Given the description of an element on the screen output the (x, y) to click on. 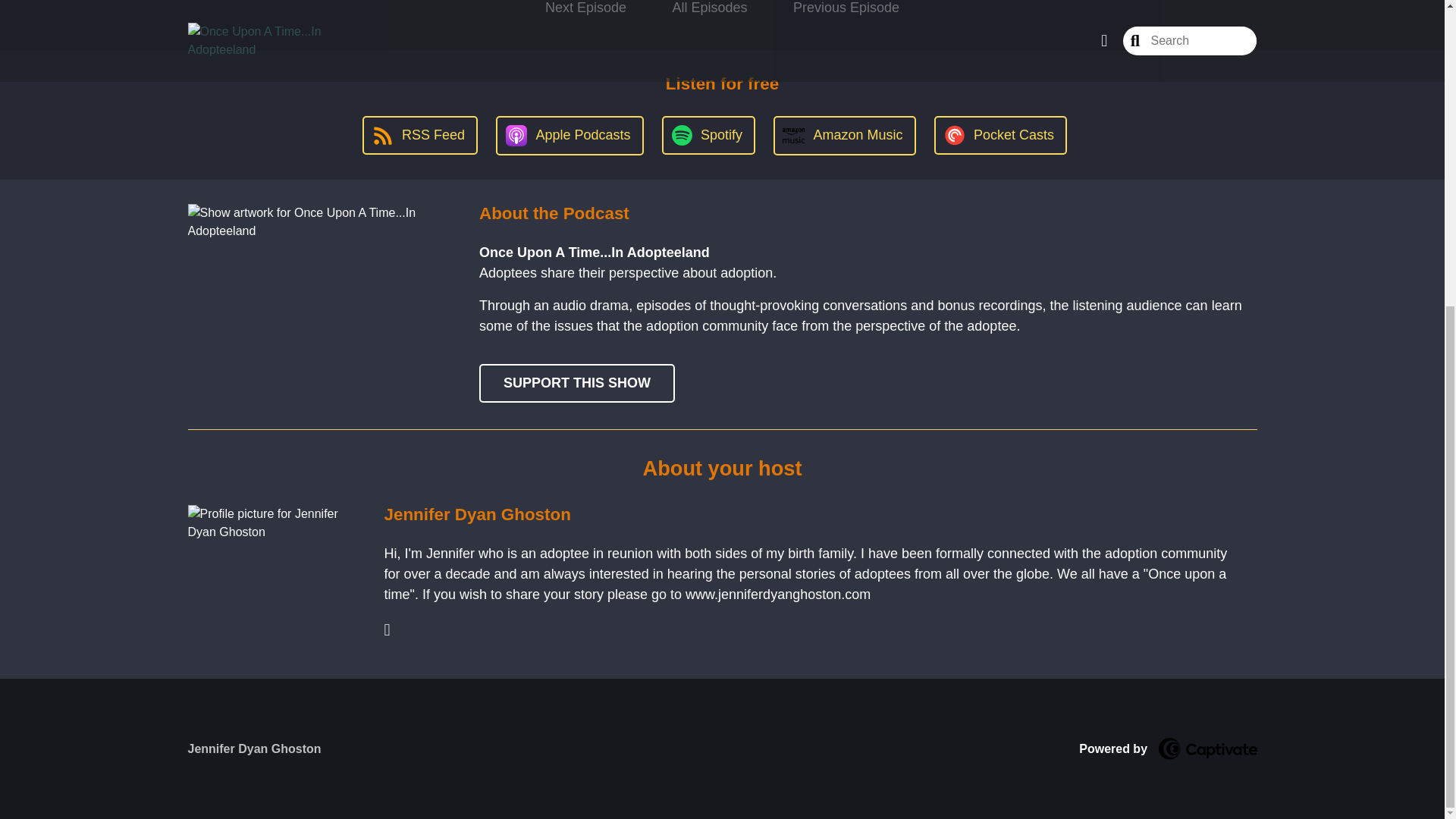
Apple Podcasts (569, 135)
SUPPORT THIS SHOW (577, 382)
Amazon Music (844, 135)
All Episodes (709, 12)
RSS Feed (419, 135)
Spotify (708, 135)
Previous Episode (845, 12)
Next Episode (585, 12)
Pocket Casts (1000, 135)
